Given the description of an element on the screen output the (x, y) to click on. 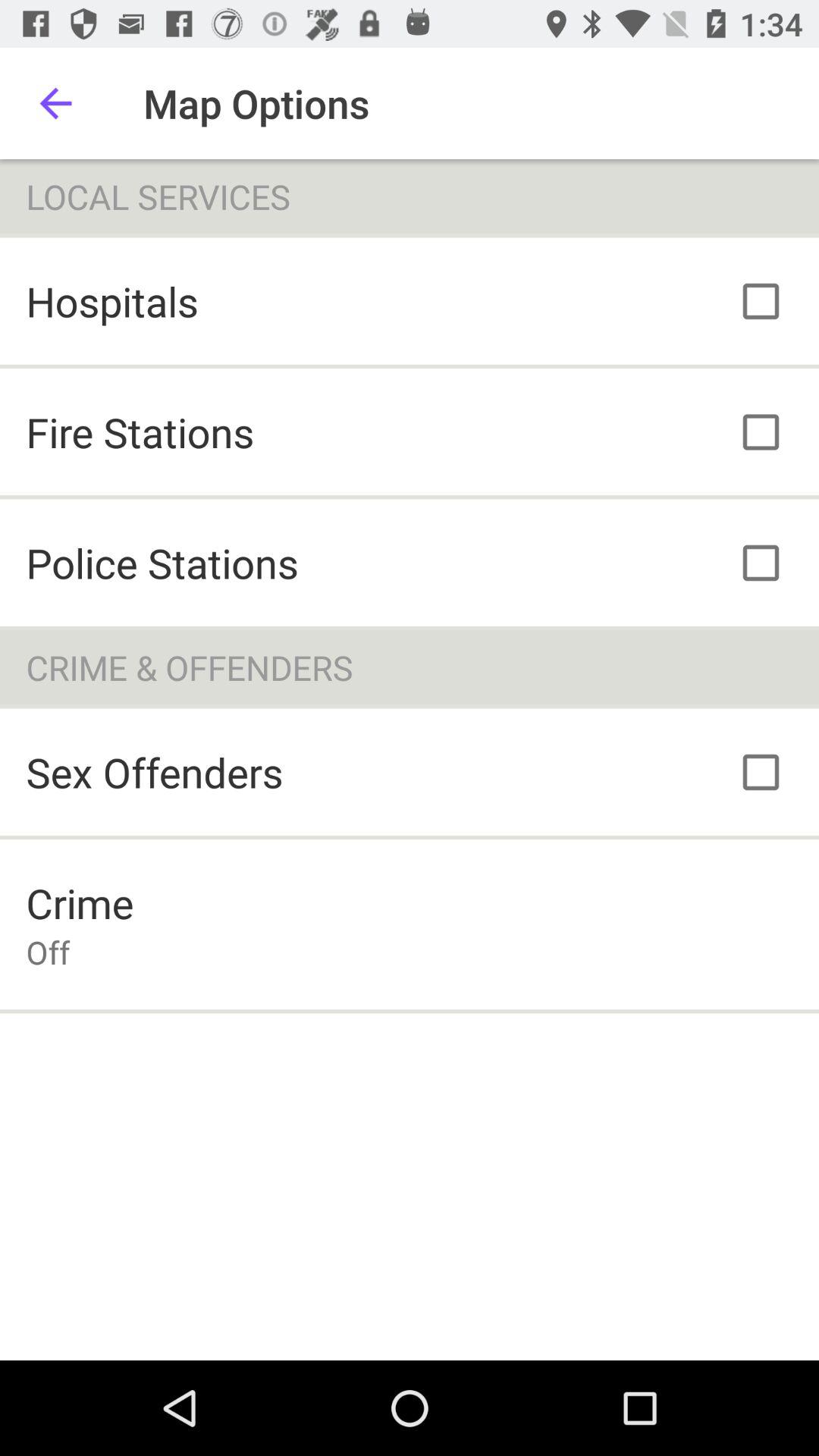
press icon below crime (47, 951)
